Given the description of an element on the screen output the (x, y) to click on. 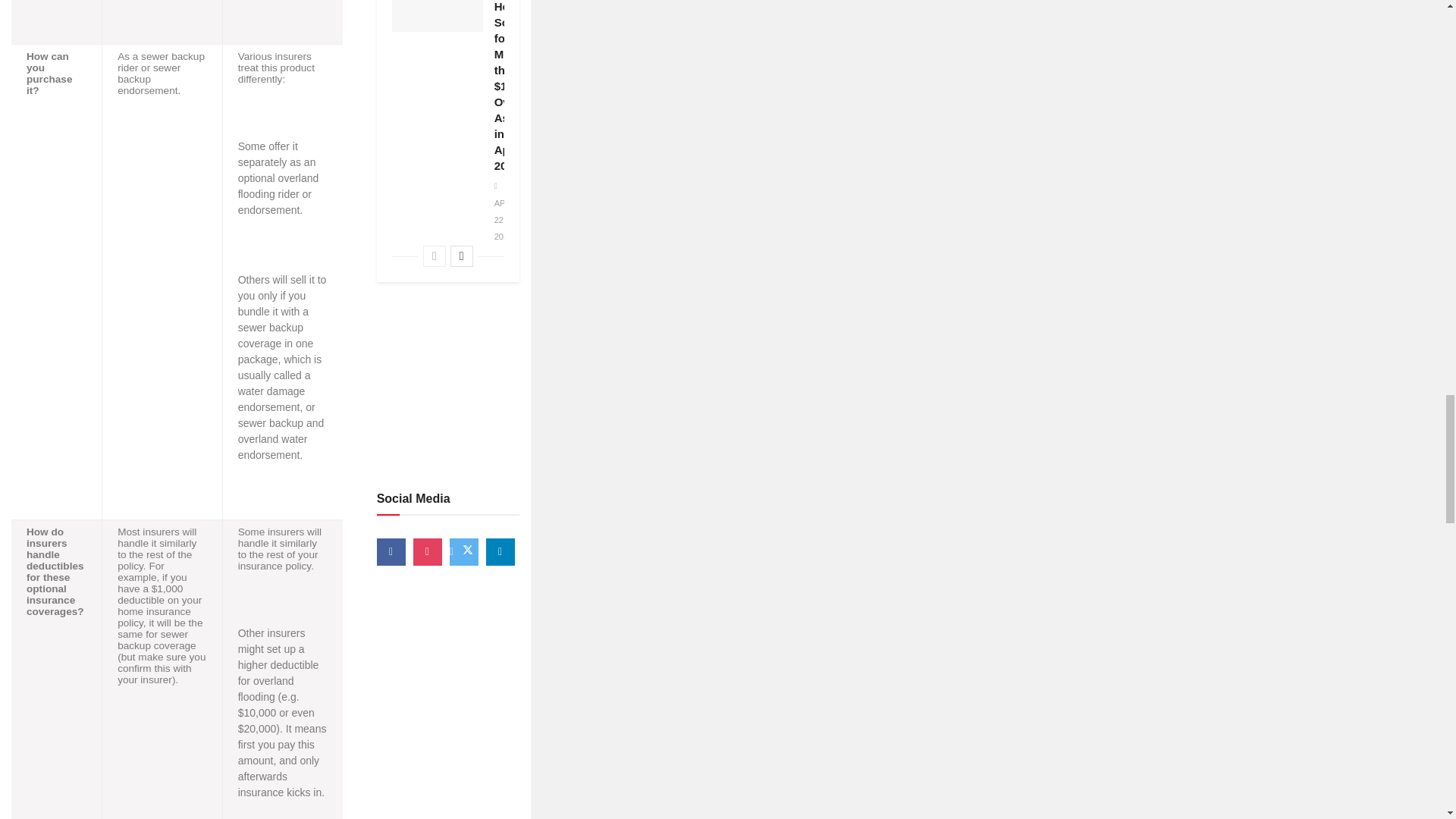
Next (461, 255)
Previous (434, 255)
